Given the description of an element on the screen output the (x, y) to click on. 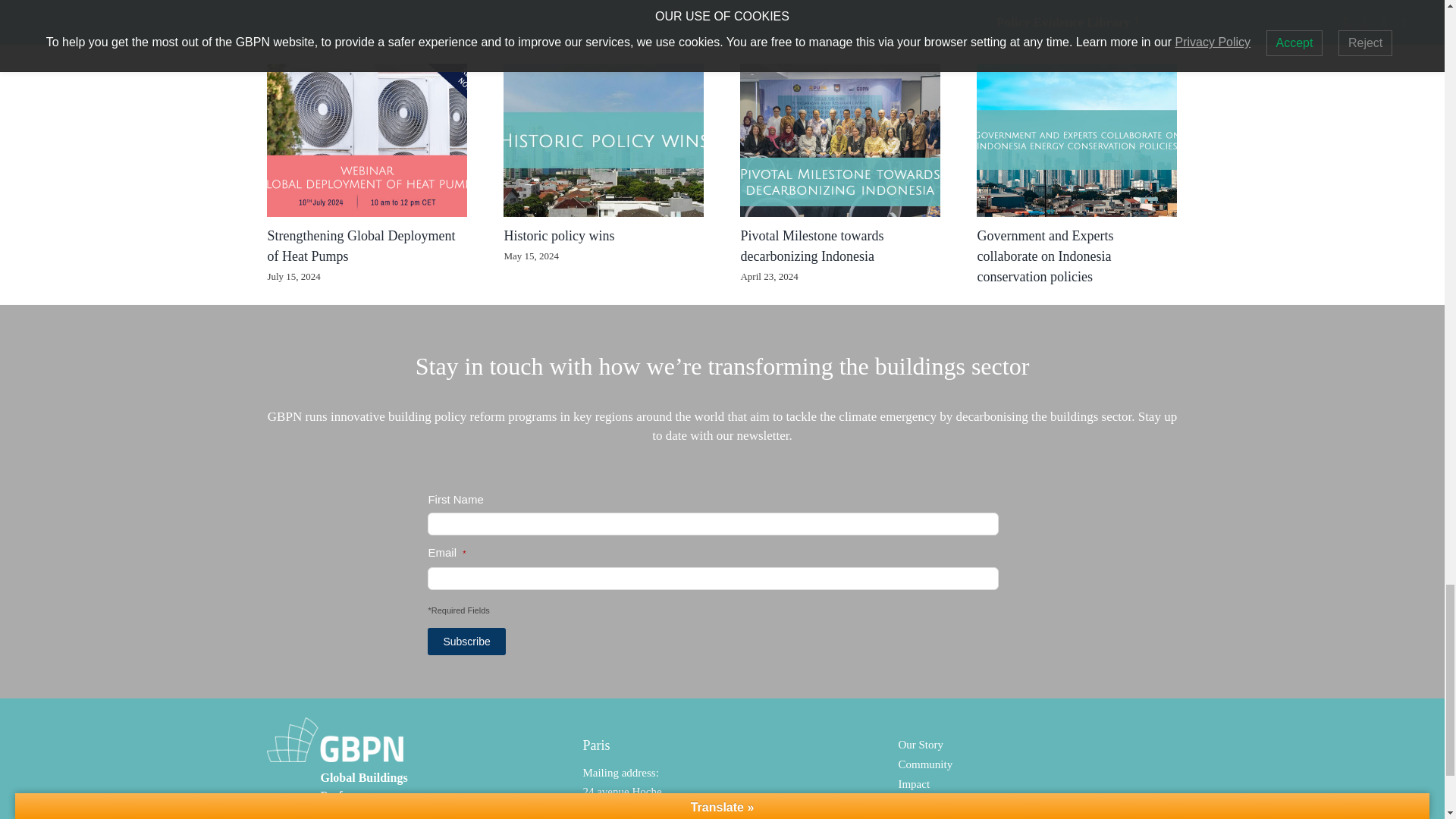
Subscribe (466, 641)
